Given the description of an element on the screen output the (x, y) to click on. 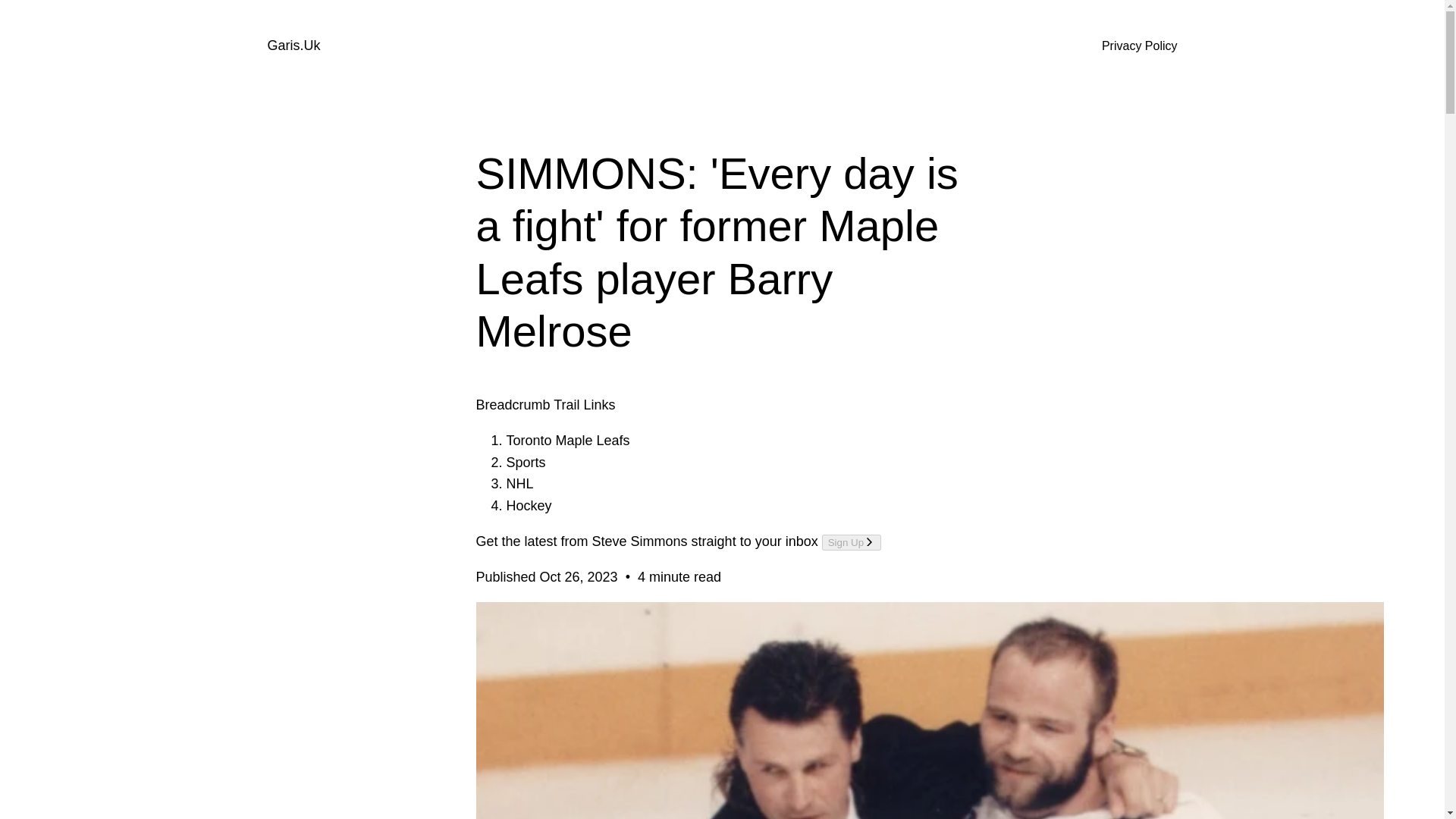
Garis.Uk (293, 45)
Sign Up (851, 542)
Privacy Policy (1139, 46)
